Given the description of an element on the screen output the (x, y) to click on. 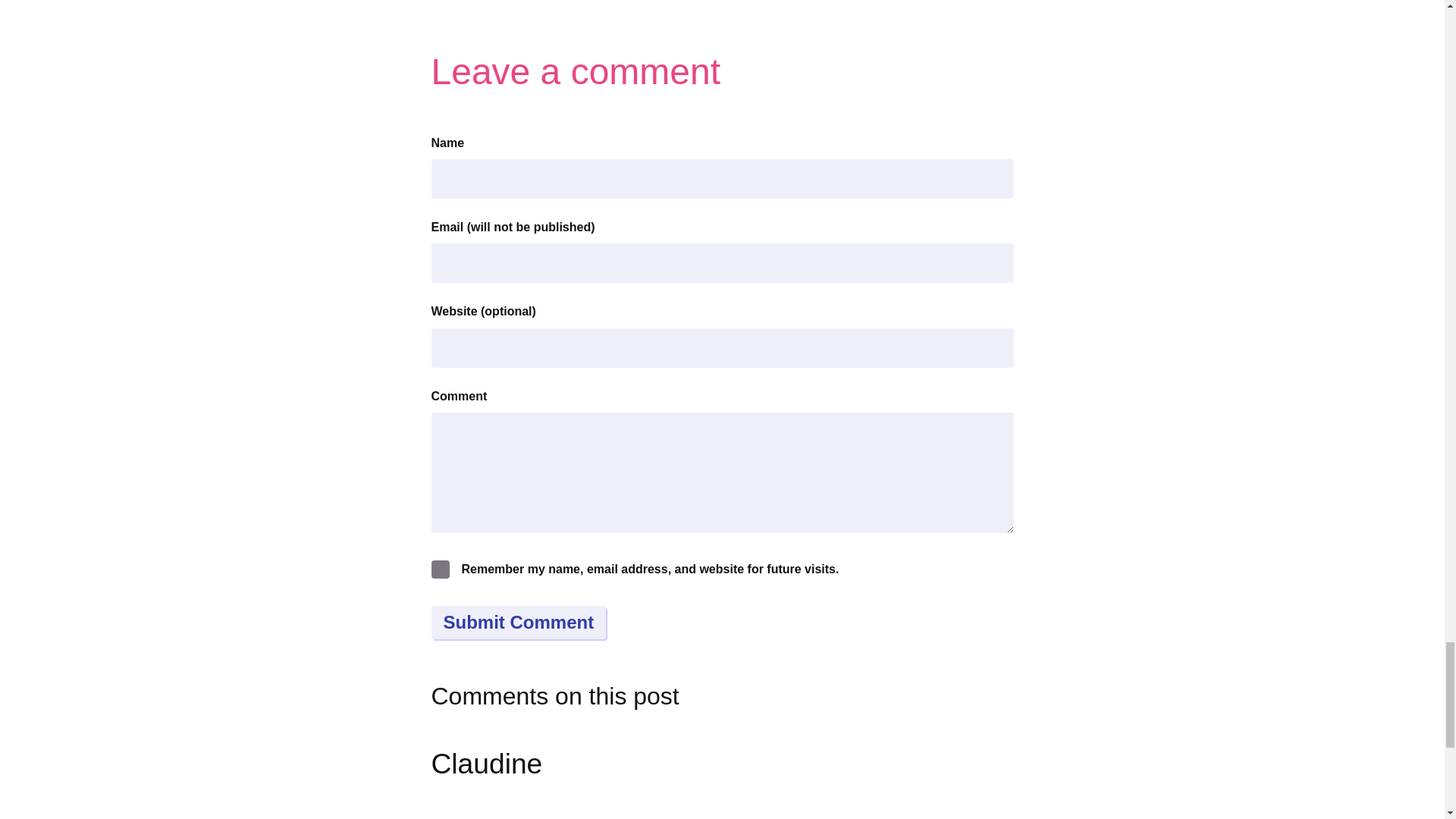
2:40am (604, 817)
Submit Comment (517, 622)
